Given the description of an element on the screen output the (x, y) to click on. 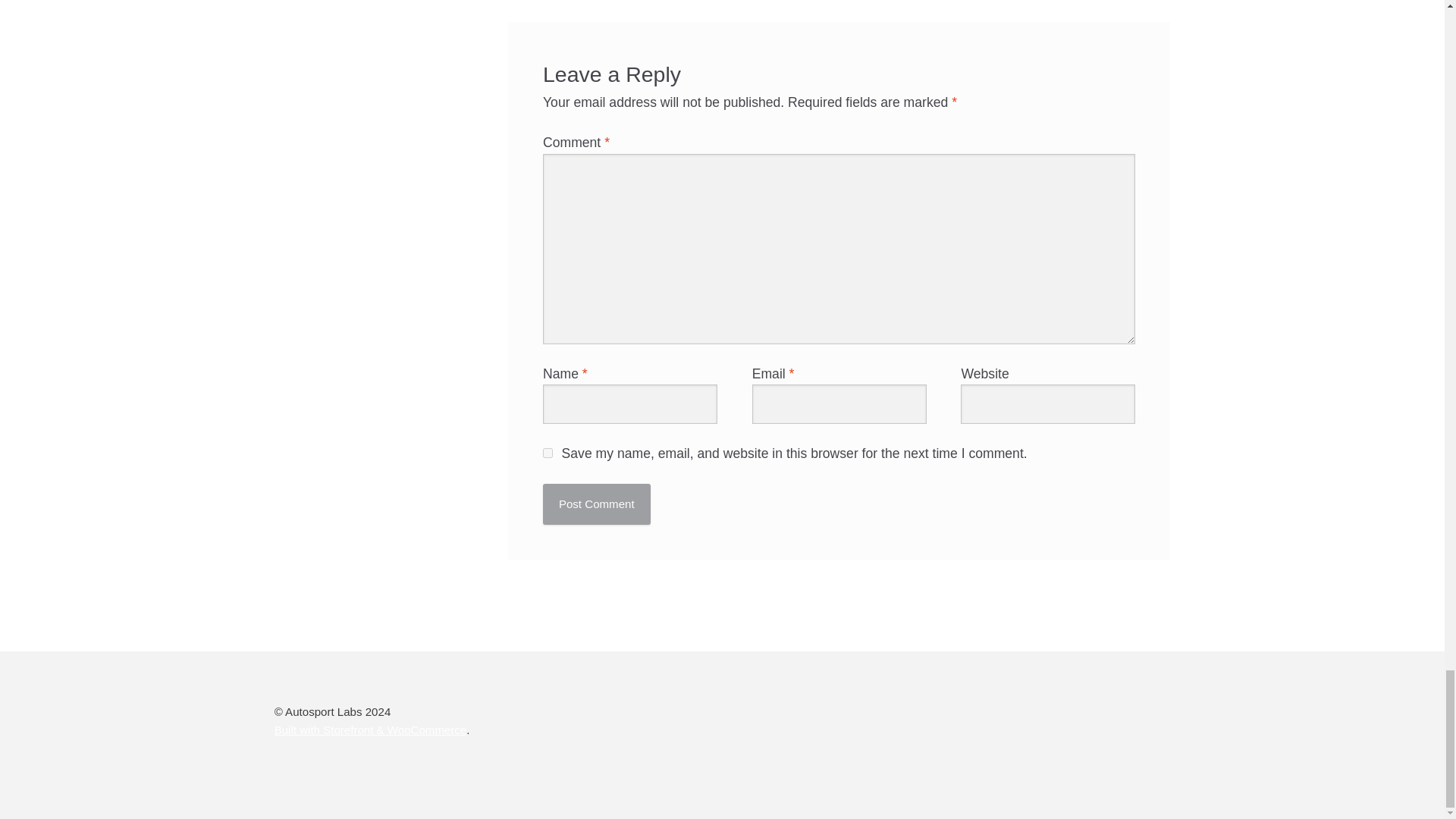
yes (548, 452)
Post Comment (596, 504)
WooCommerce - The Best eCommerce Platform for WordPress (371, 729)
